Given the description of an element on the screen output the (x, y) to click on. 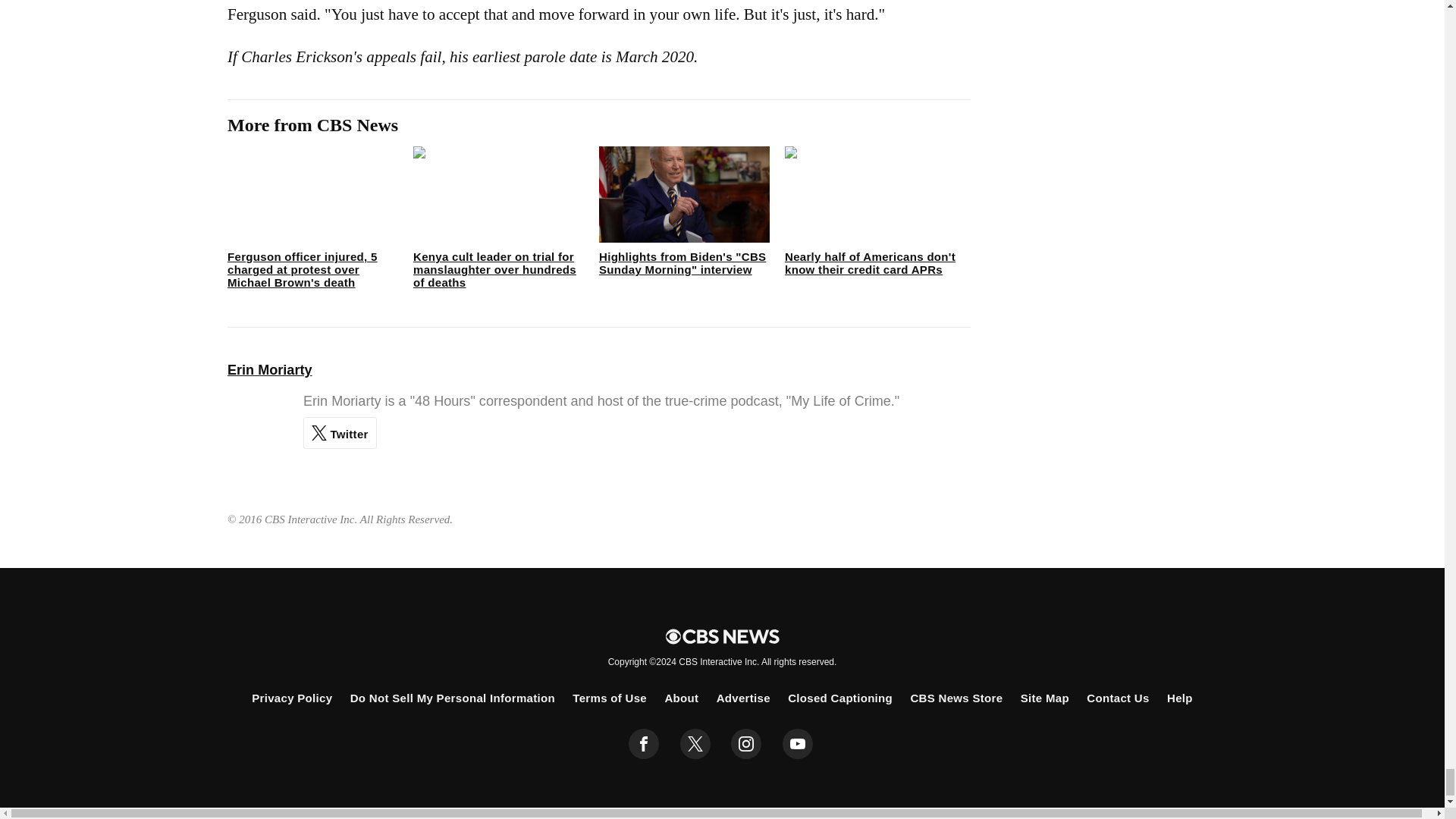
facebook (643, 743)
twitter (694, 743)
instagram (745, 743)
youtube (797, 743)
